Given the description of an element on the screen output the (x, y) to click on. 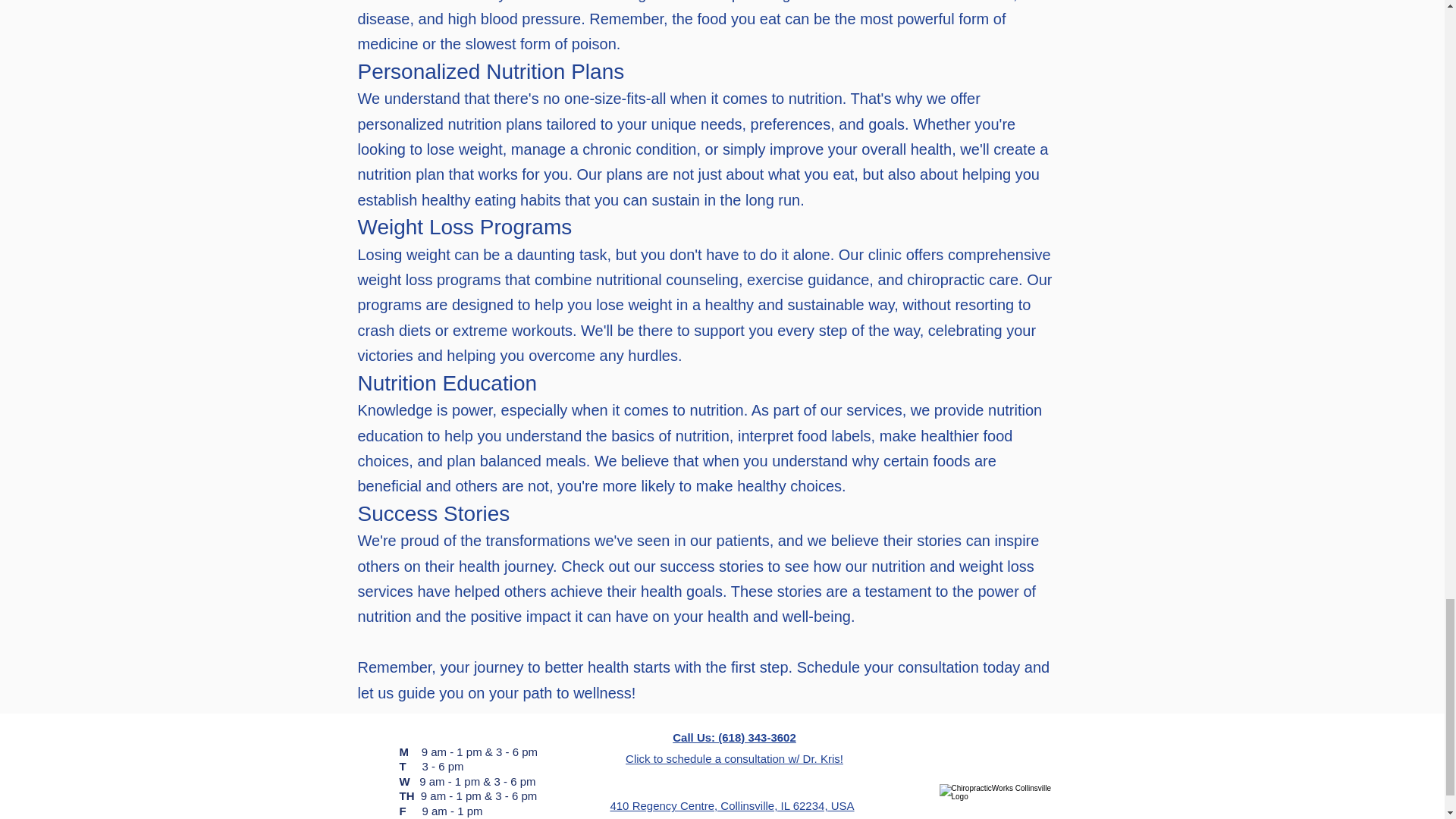
410 Regency Centre, Collinsville, IL 62234, USA (731, 805)
